Given the description of an element on the screen output the (x, y) to click on. 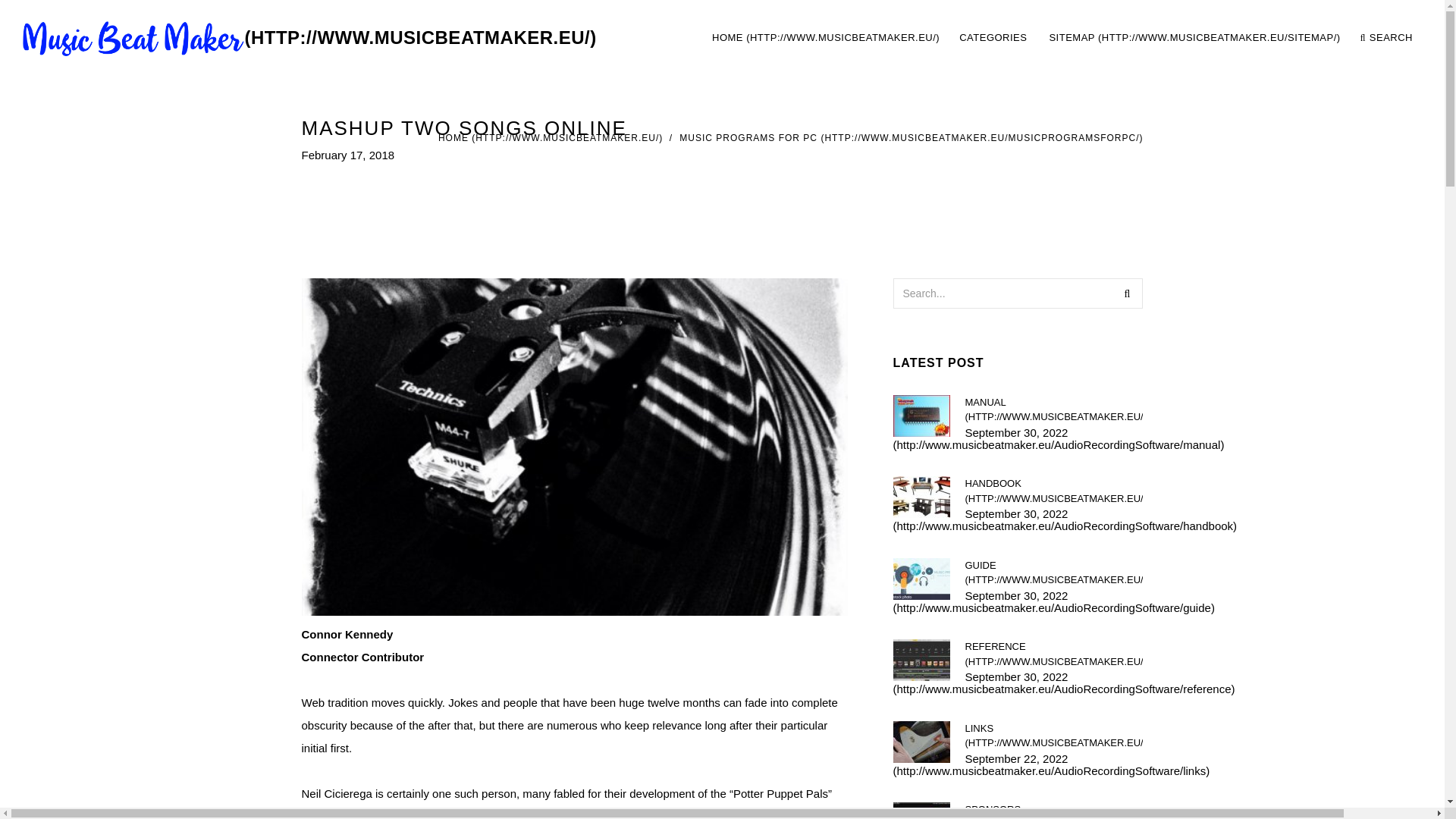
HOME (826, 38)
HANDBOOK (1052, 490)
SEARCH (1386, 38)
MANUAL (1052, 408)
Search (1126, 292)
REFERENCE (1052, 654)
CATEGORIES (994, 38)
MUSIC PROGRAMS FOR PC (1061, 38)
SITEMAP (910, 137)
Music beat maker (1194, 38)
HOME (309, 38)
GUIDE (550, 137)
